Given the description of an element on the screen output the (x, y) to click on. 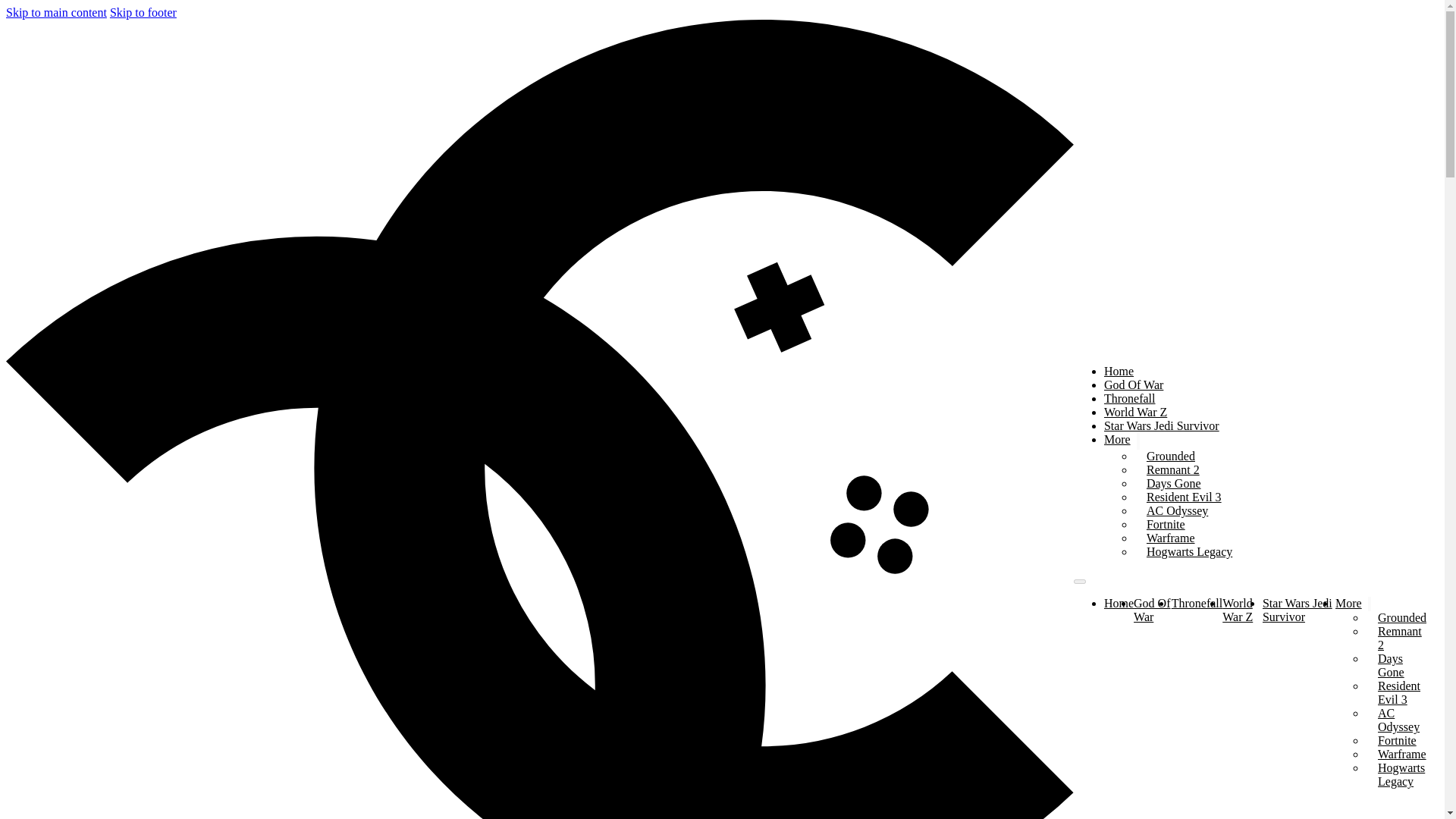
Skip to footer (143, 11)
Resident Evil 3 (1184, 496)
Warframe (1401, 753)
Thronefall (1197, 603)
Grounded (1171, 455)
Days Gone (1174, 482)
Star Wars Jedi Survivor (1297, 610)
AC Odyssey (1398, 719)
God Of War (1152, 610)
Star Wars Jedi Survivor (1161, 425)
Grounded (1401, 617)
More (1117, 441)
Warframe (1171, 537)
Hogwarts Legacy (1401, 774)
Days Gone (1391, 664)
